Given the description of an element on the screen output the (x, y) to click on. 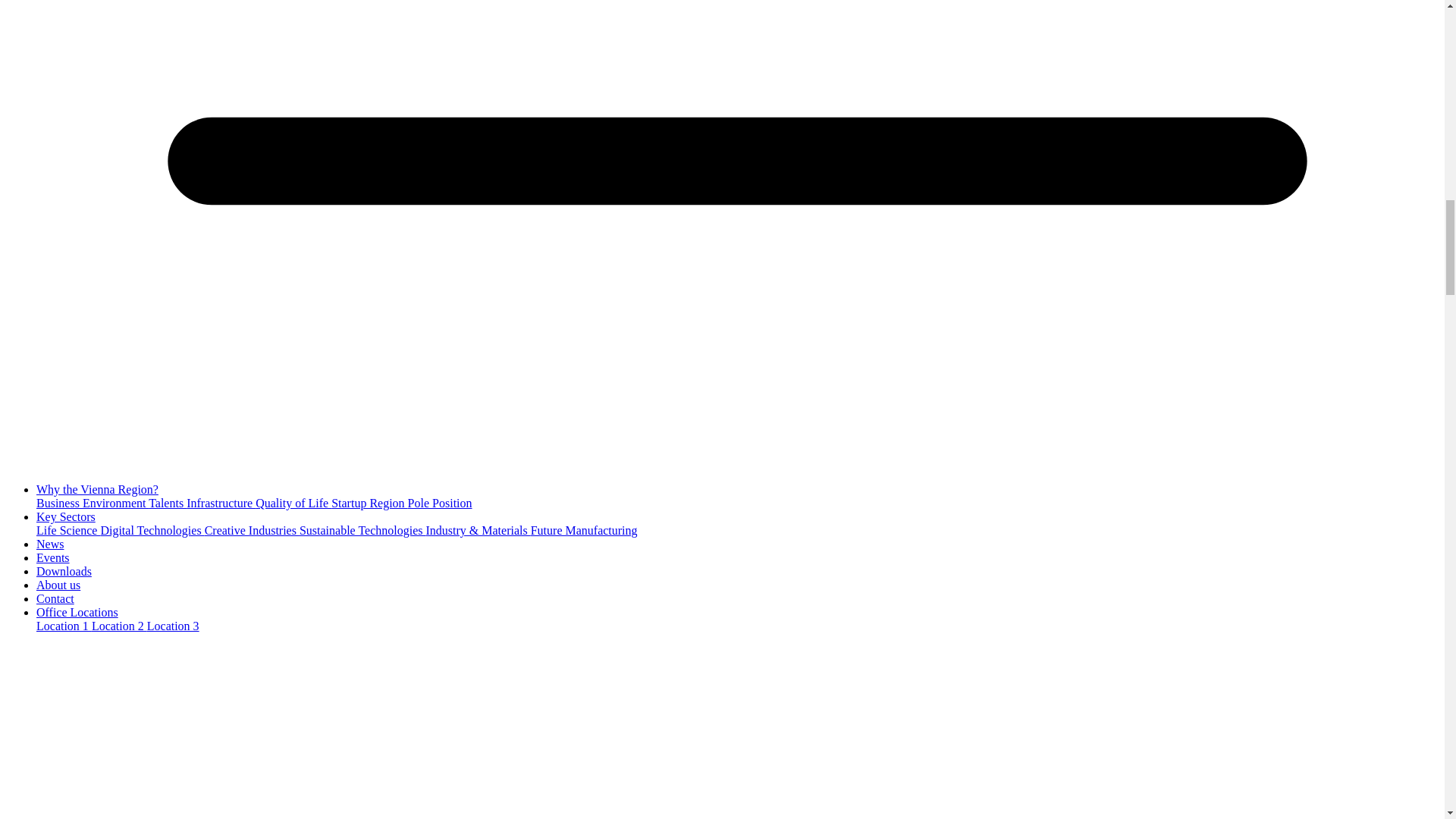
About us (58, 584)
Future Manufacturing (584, 530)
Life Science (68, 530)
News (50, 543)
Downloads (63, 571)
Why the Vienna Region? (97, 489)
Events (52, 557)
Sustainable Technologies (362, 530)
Creative Industries (252, 530)
Office Locations (76, 612)
Digital Technologies (151, 530)
Startup Region (369, 502)
Location 3 (173, 625)
Location 1 (63, 625)
Business Environment (92, 502)
